Given the description of an element on the screen output the (x, y) to click on. 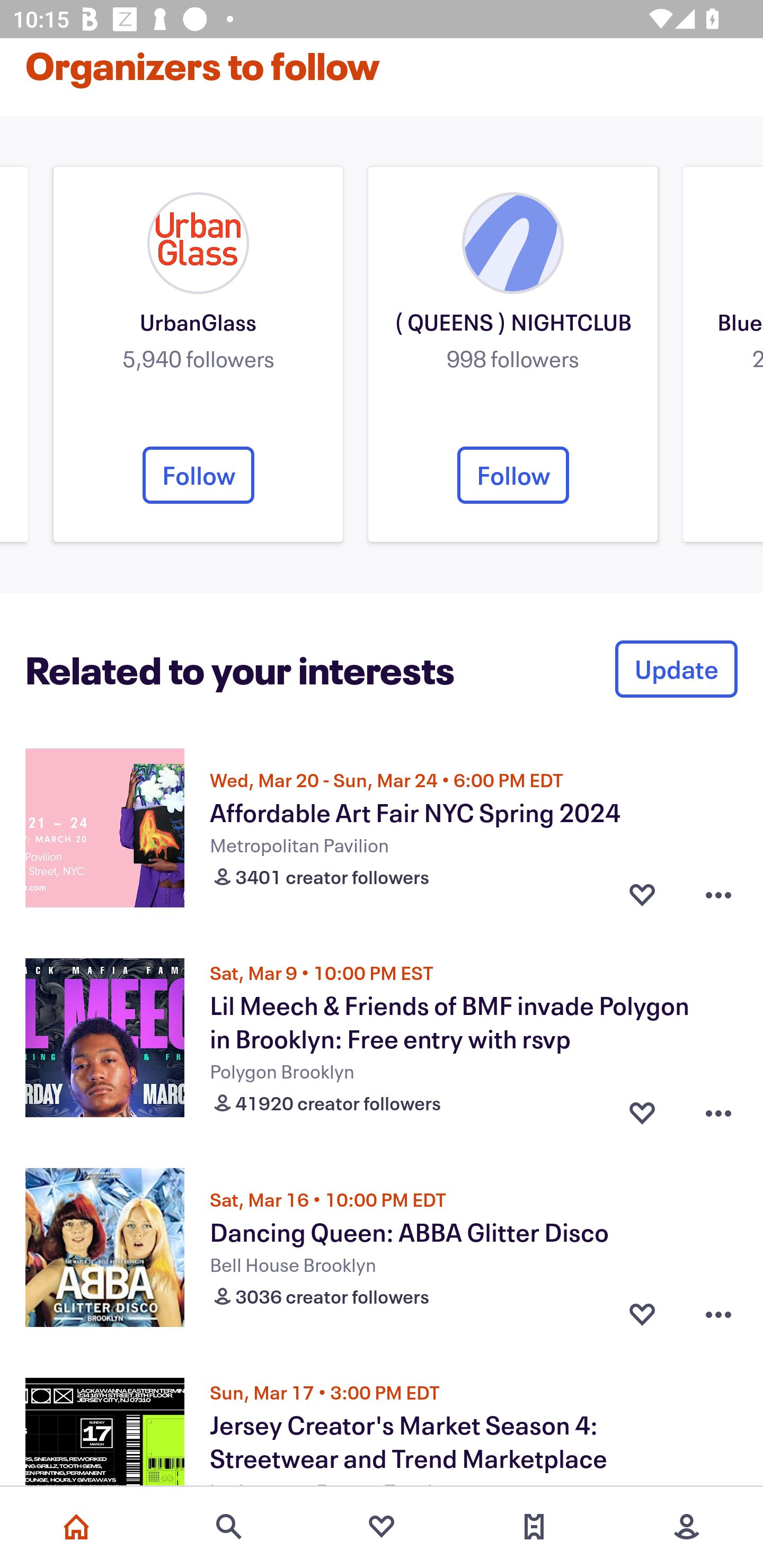
Follow Organizer's follow button (198, 474)
Follow Organizer's follow button (513, 474)
Update (675, 668)
Favorite button (642, 894)
Overflow menu button (718, 894)
Favorite button (642, 1109)
Overflow menu button (718, 1109)
Favorite button (642, 1313)
Overflow menu button (718, 1313)
Home (76, 1526)
Search events (228, 1526)
Favorites (381, 1526)
Tickets (533, 1526)
More (686, 1526)
